Given the description of an element on the screen output the (x, y) to click on. 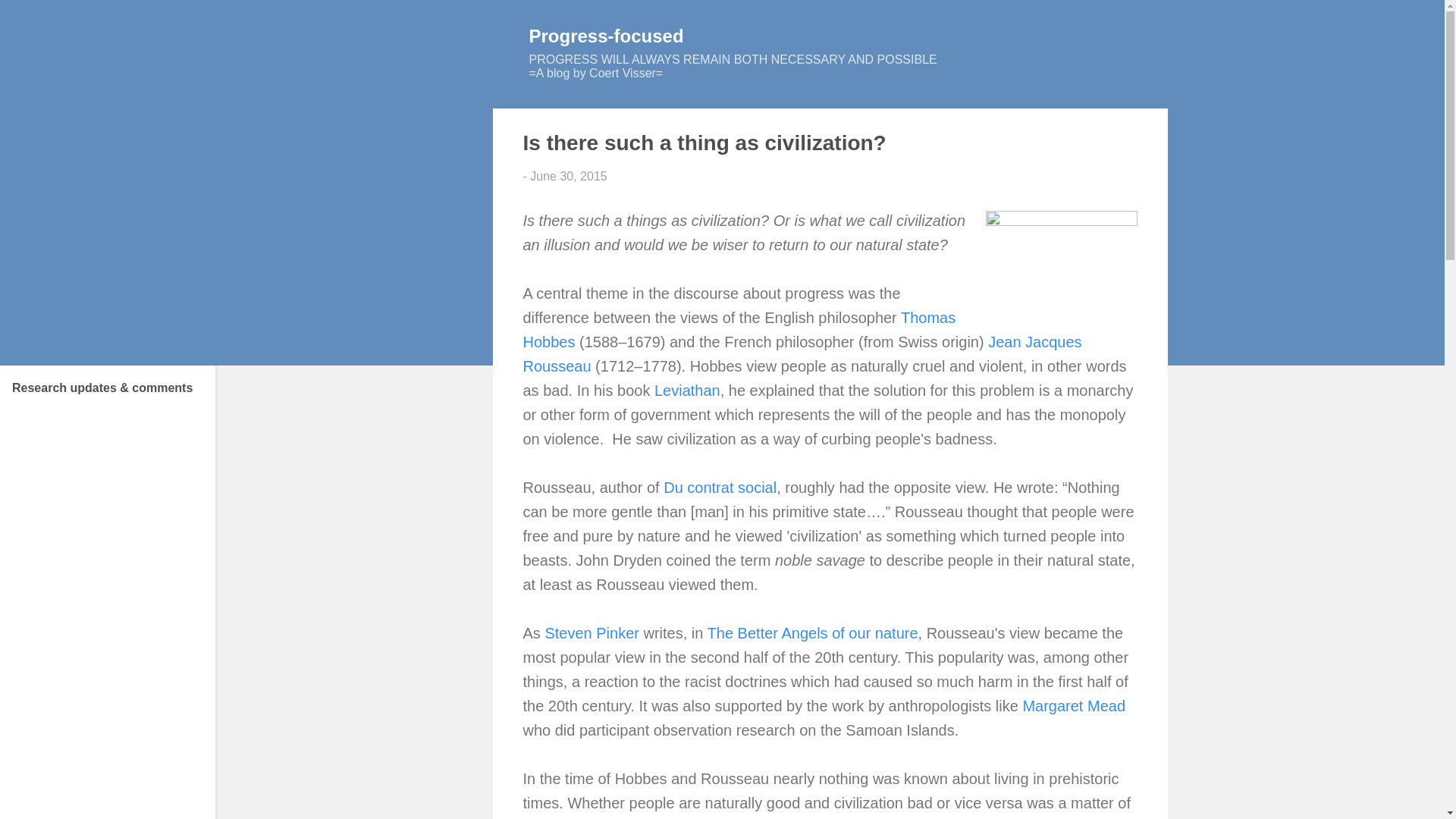
Thomas Hobbes (739, 329)
June 30, 2015 (568, 175)
Search (32, 18)
The Better Angels of our nature (812, 632)
Steven Pinker (591, 632)
Du contrat social (719, 487)
Margaret Mead (1073, 705)
Progress-focused (606, 35)
Jean Jacques Rousseau (801, 353)
permanent link (568, 175)
Leviathan (686, 390)
